Given the description of an element on the screen output the (x, y) to click on. 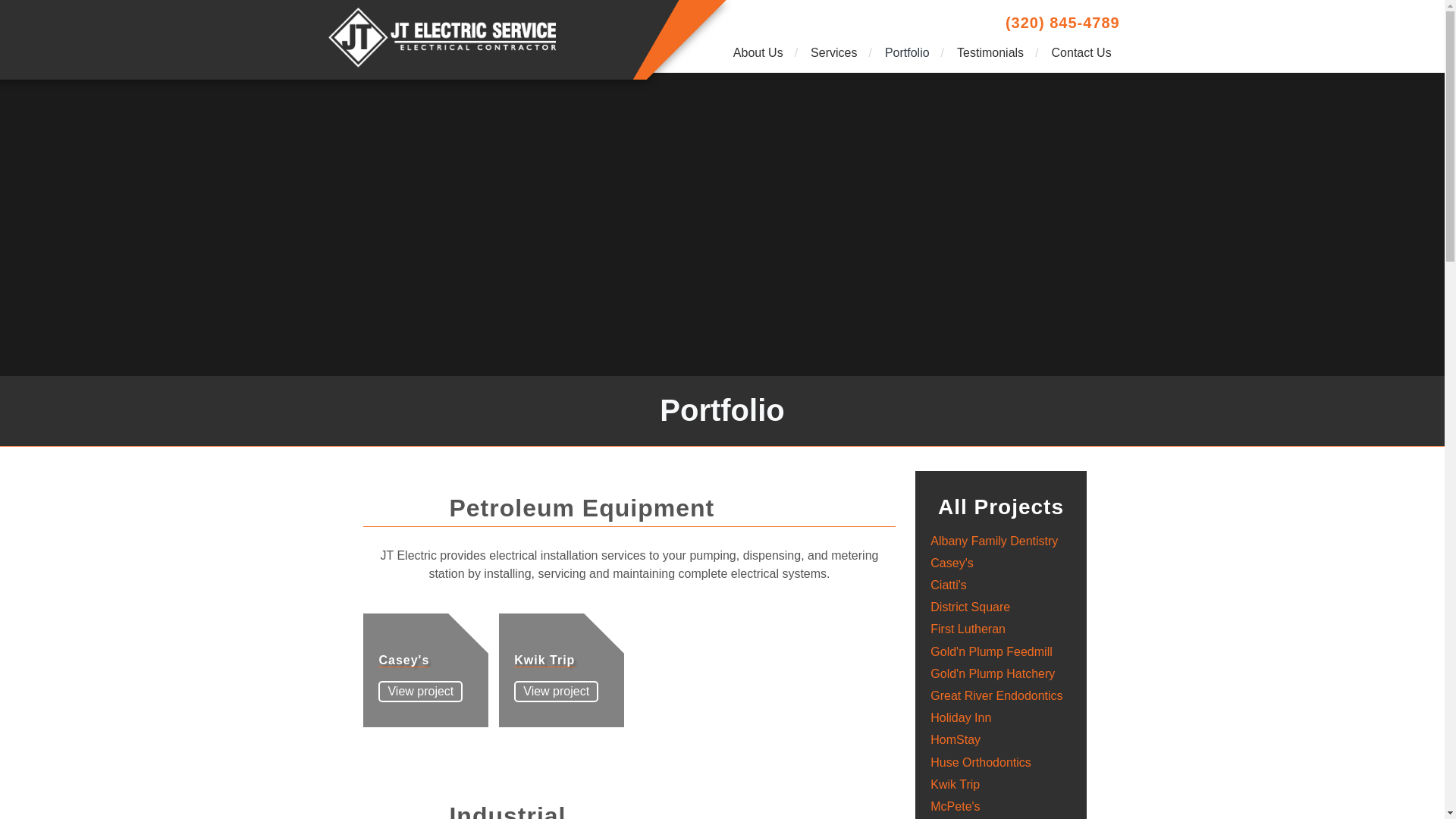
View project (420, 690)
Services (834, 51)
View project (555, 690)
Contact Us (1081, 51)
Portfolio (908, 51)
About Us (758, 51)
Testimonials (991, 51)
